Given the description of an element on the screen output the (x, y) to click on. 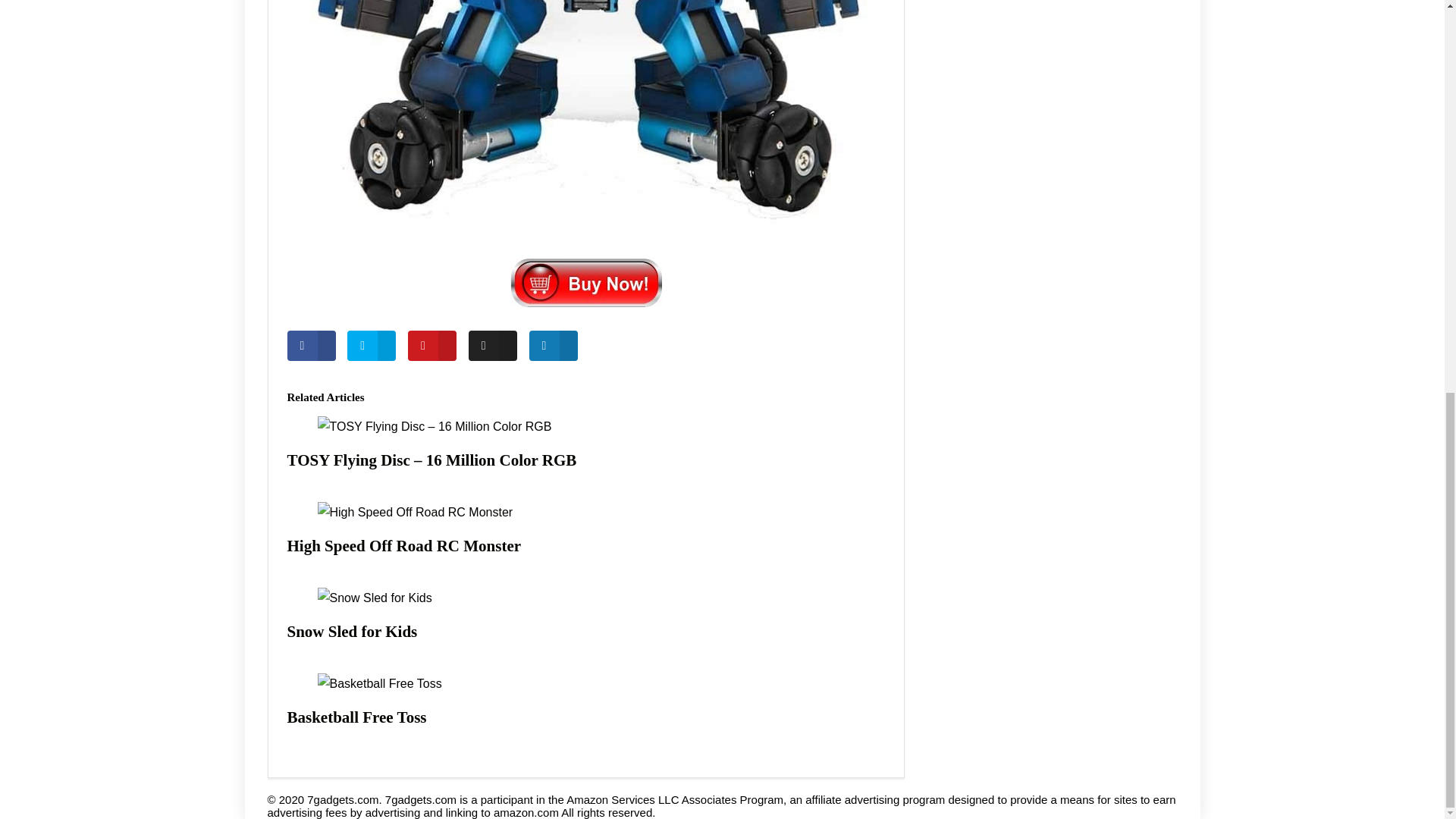
Snow Sled for Kids (351, 631)
Basketball Free Toss (356, 717)
High Speed Off Road RC Monster (403, 546)
Buy now! (585, 281)
